Given the description of an element on the screen output the (x, y) to click on. 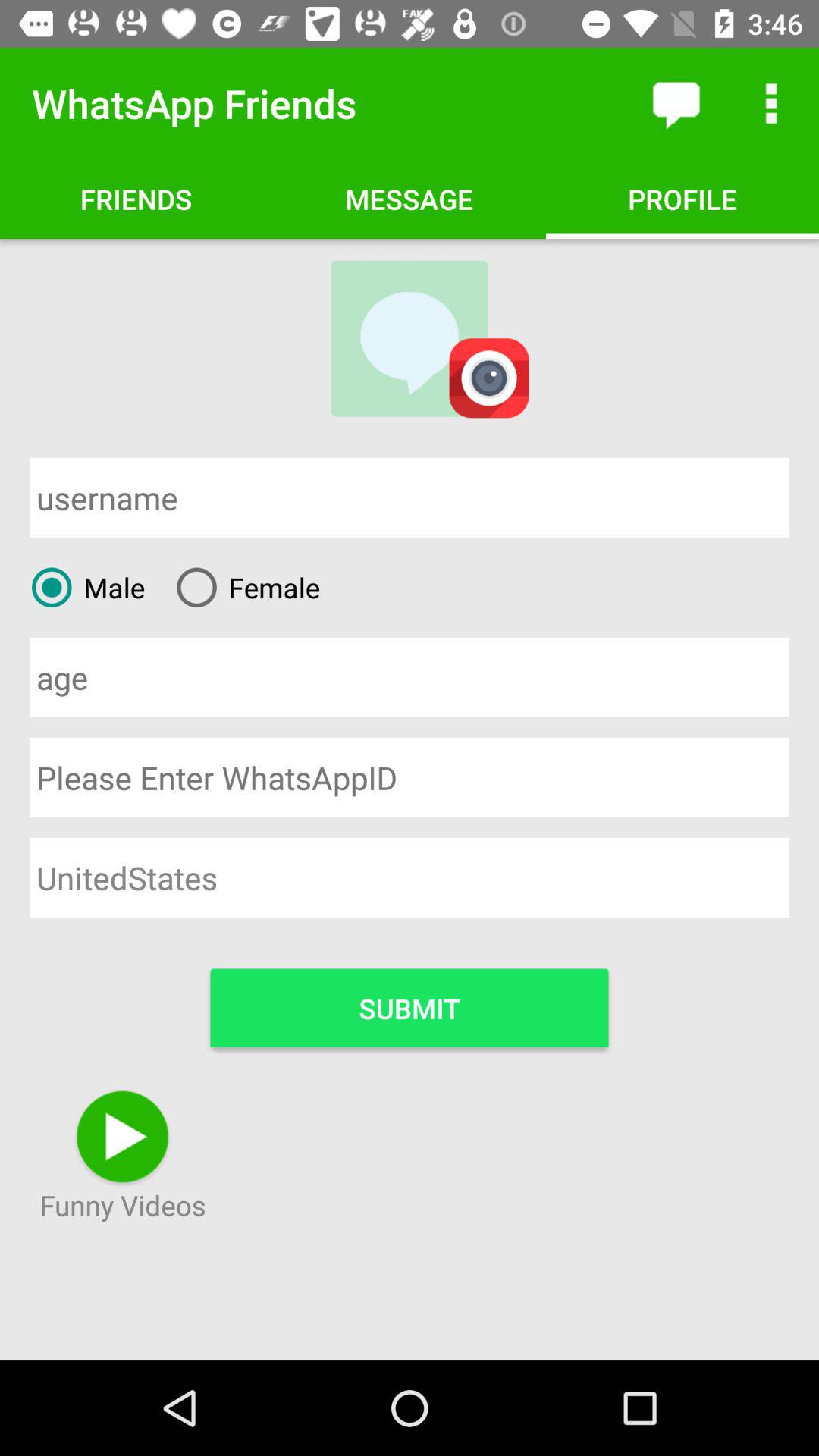
swipe until the male icon (82, 587)
